Given the description of an element on the screen output the (x, y) to click on. 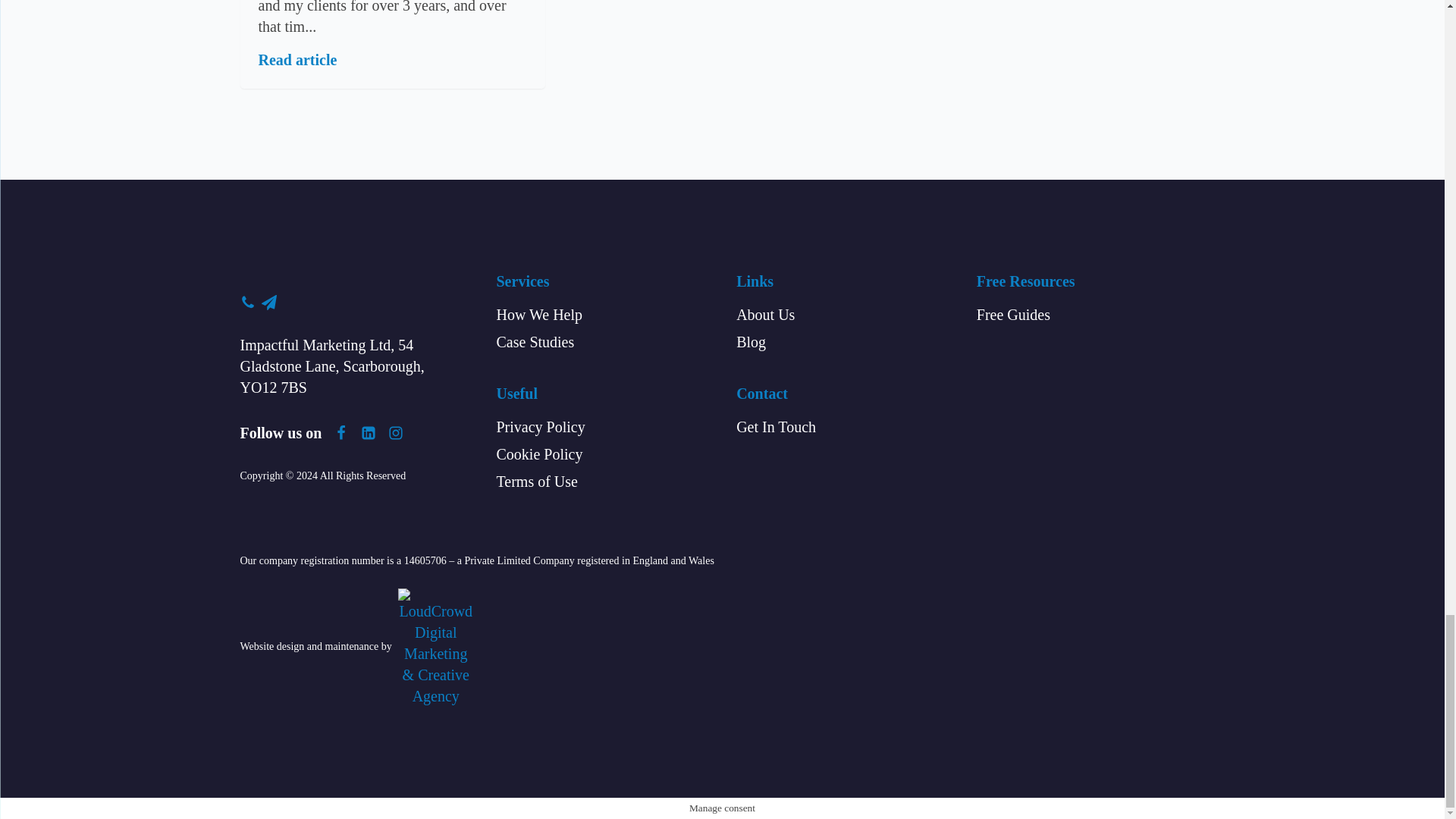
Read article (296, 59)
Get In Touch (775, 426)
Cookie Policy (539, 454)
Case Studies (534, 341)
About Us (765, 314)
Privacy Policy (540, 426)
How We Help (539, 314)
Free Guides (1012, 314)
Website design and maintenance by (356, 647)
Terms of Use (536, 481)
